Given the description of an element on the screen output the (x, y) to click on. 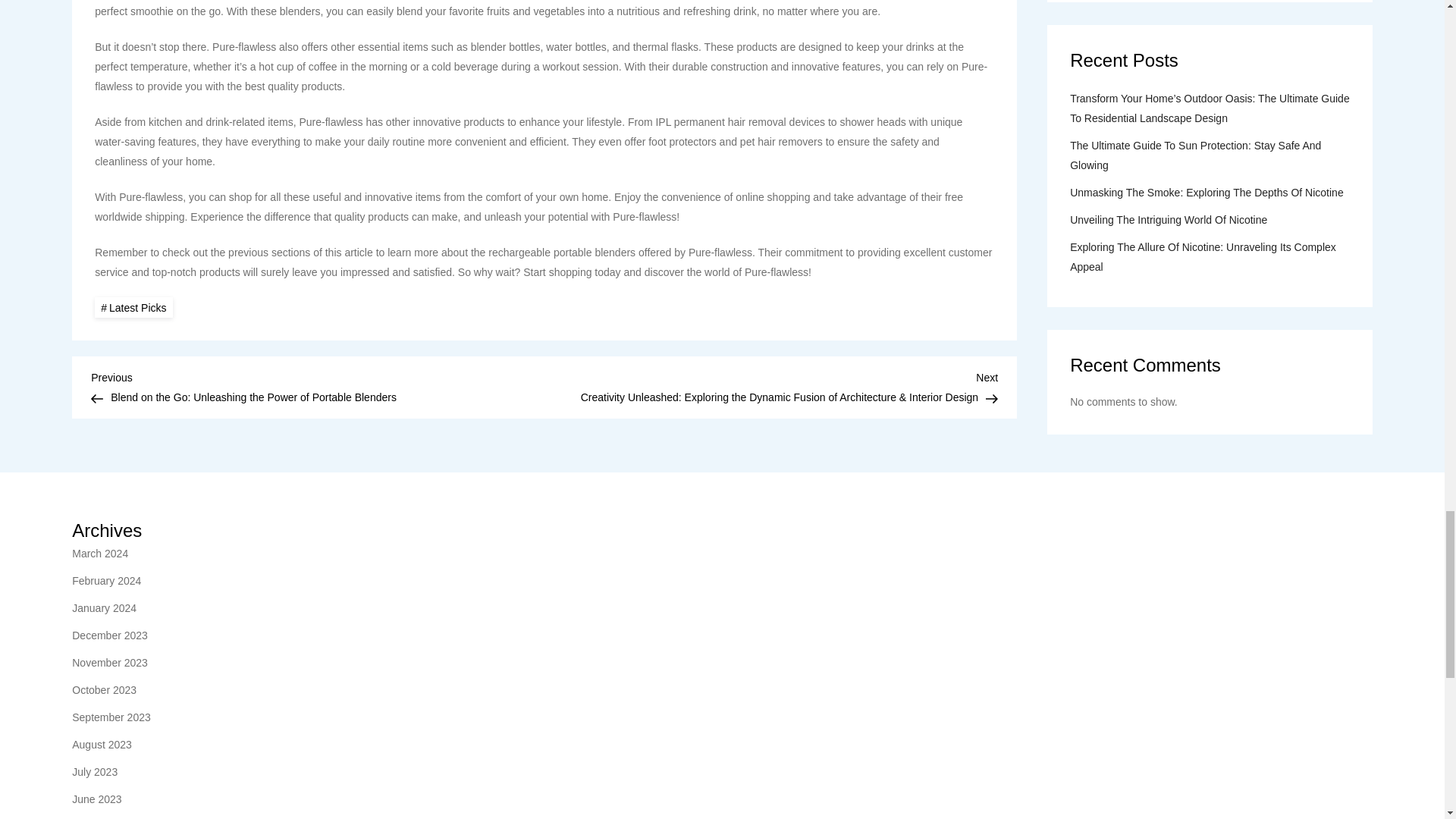
September 2023 (111, 717)
January 2024 (103, 608)
November 2023 (109, 662)
October 2023 (103, 690)
Latest Picks (132, 307)
July 2023 (94, 772)
August 2023 (101, 744)
May 2023 (94, 817)
February 2024 (106, 580)
June 2023 (95, 799)
